Given the description of an element on the screen output the (x, y) to click on. 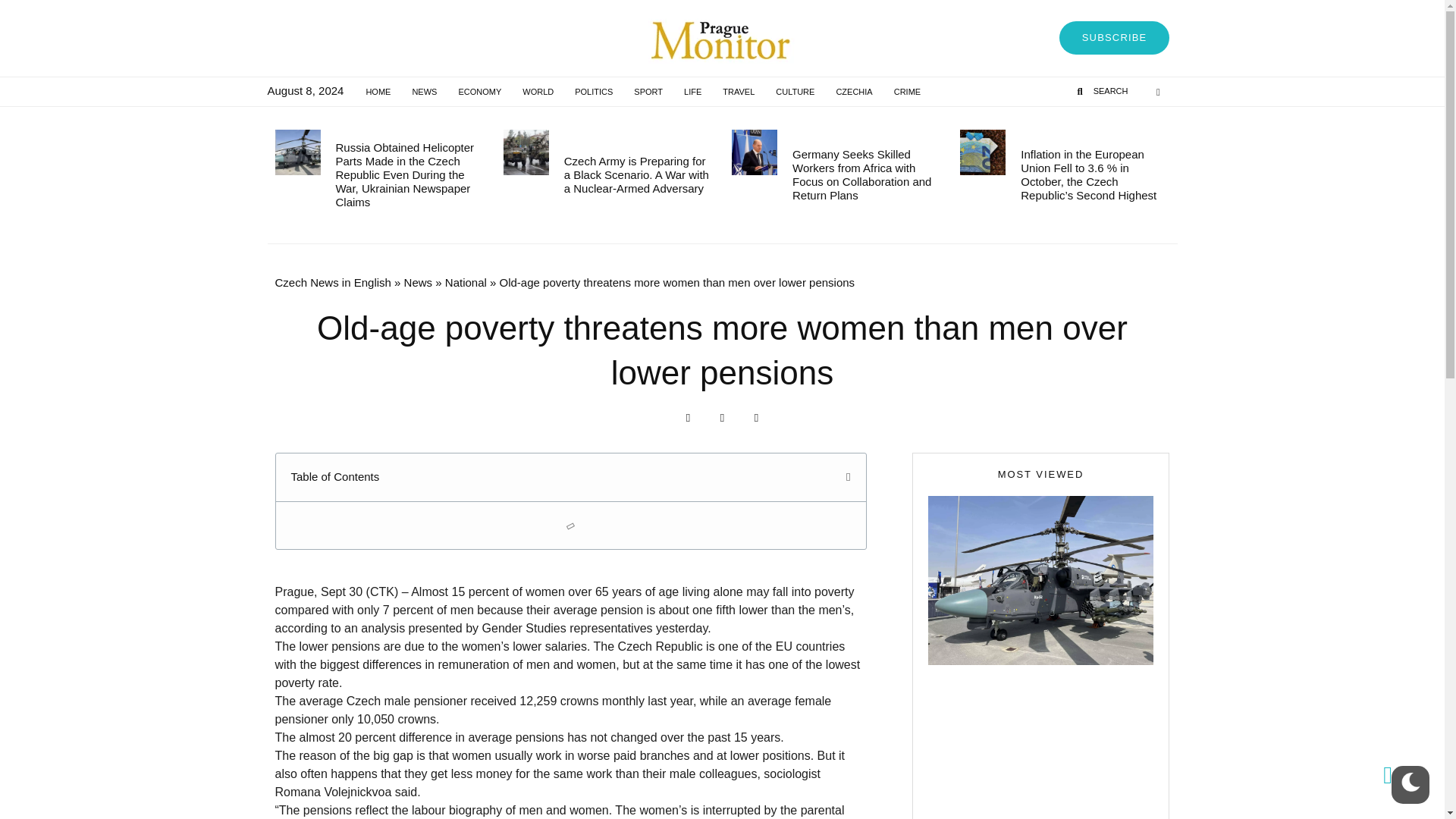
HOME (378, 91)
CZECHIA (853, 91)
WORLD (538, 91)
Czech News in English (332, 282)
SUBSCRIBE (1114, 37)
CRIME (907, 91)
ECONOMY (479, 91)
POLITICS (593, 91)
NEWS (423, 91)
TRAVEL (738, 91)
LIFE (691, 91)
SPORT (647, 91)
